Given the description of an element on the screen output the (x, y) to click on. 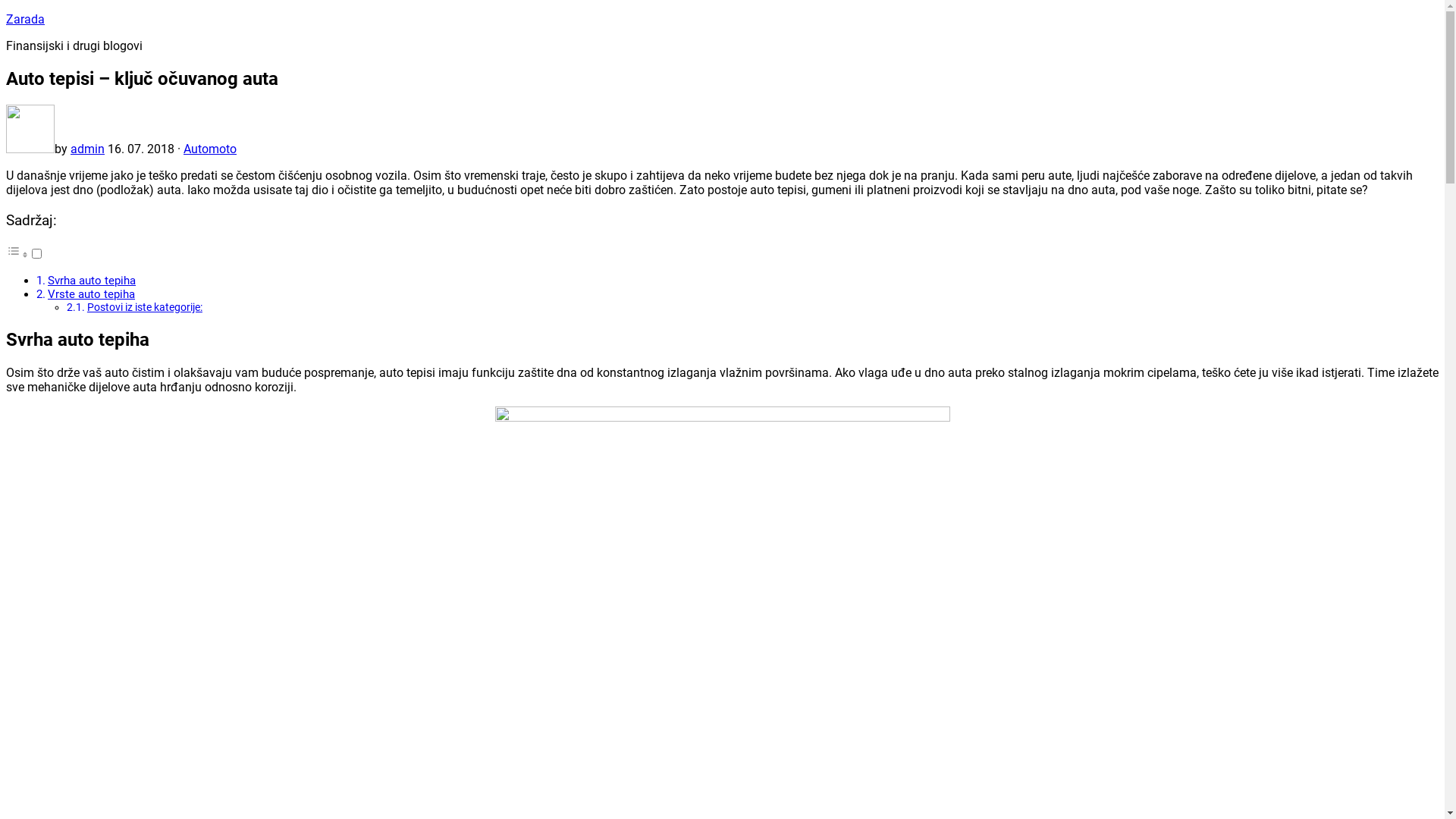
Svrha auto tepiha Element type: text (91, 280)
Skip to content Element type: text (5, 11)
Automoto Element type: text (209, 148)
admin Element type: text (87, 148)
Zarada Element type: text (25, 19)
Vrste auto tepiha Element type: text (90, 294)
Postovi iz iste kategorije: Element type: text (144, 307)
